Given the description of an element on the screen output the (x, y) to click on. 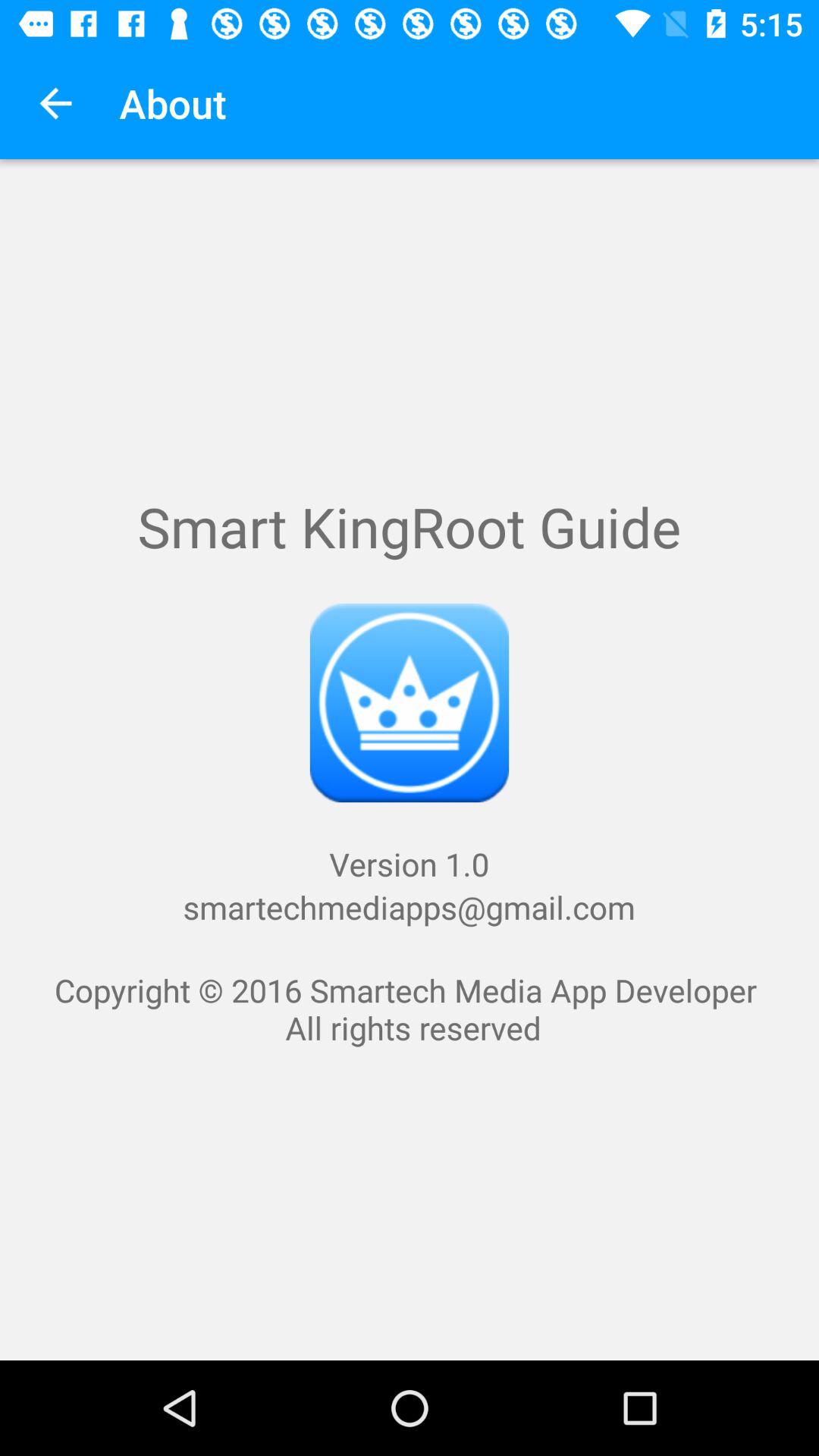
turn off icon next to the about item (55, 103)
